Given the description of an element on the screen output the (x, y) to click on. 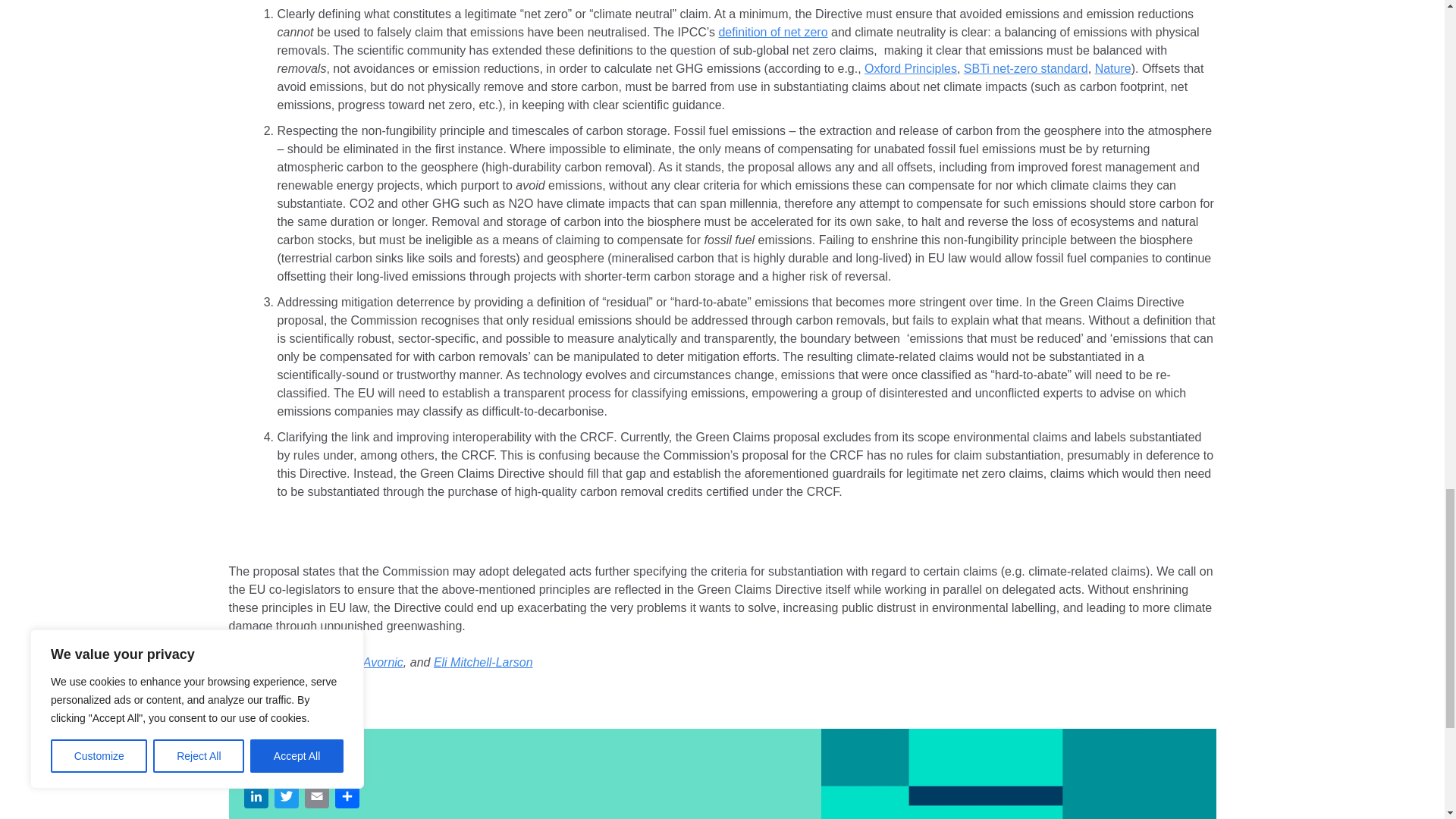
Email (316, 797)
definition of net zero (772, 31)
Oxford Principles (910, 68)
LinkedIn (255, 797)
Twitter (285, 797)
